Given the description of an element on the screen output the (x, y) to click on. 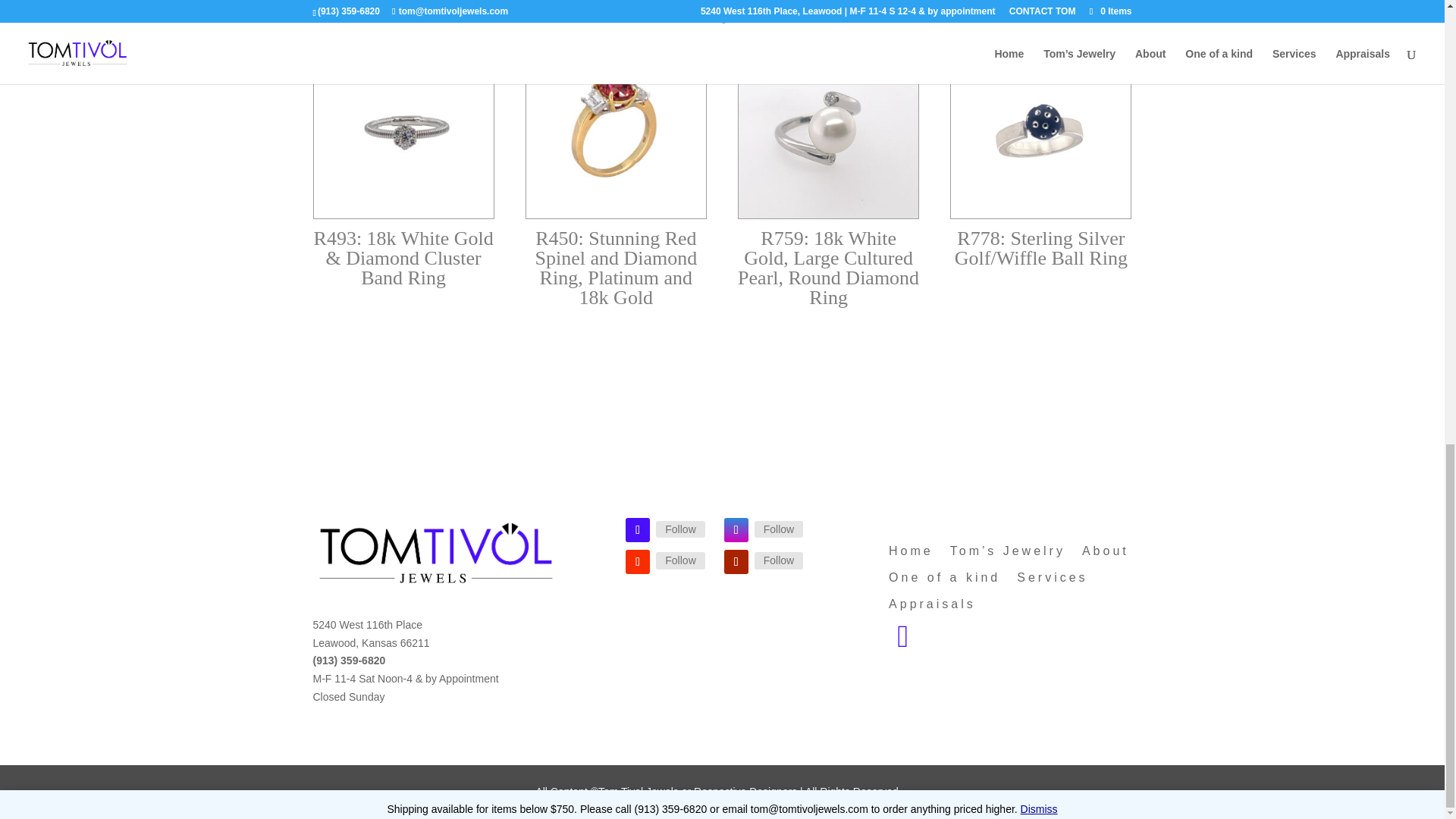
Follow (680, 560)
Pinterest (680, 560)
Follow on Youtube (735, 561)
Follow on Instagram (735, 529)
Follow (680, 528)
Home (910, 553)
Follow on Facebook (637, 529)
Facebook (680, 528)
Instagram (778, 528)
Follow (778, 560)
Follow on Pinterest (637, 561)
Follow (778, 528)
ttlogo (433, 554)
Youtube (778, 560)
